Given the description of an element on the screen output the (x, y) to click on. 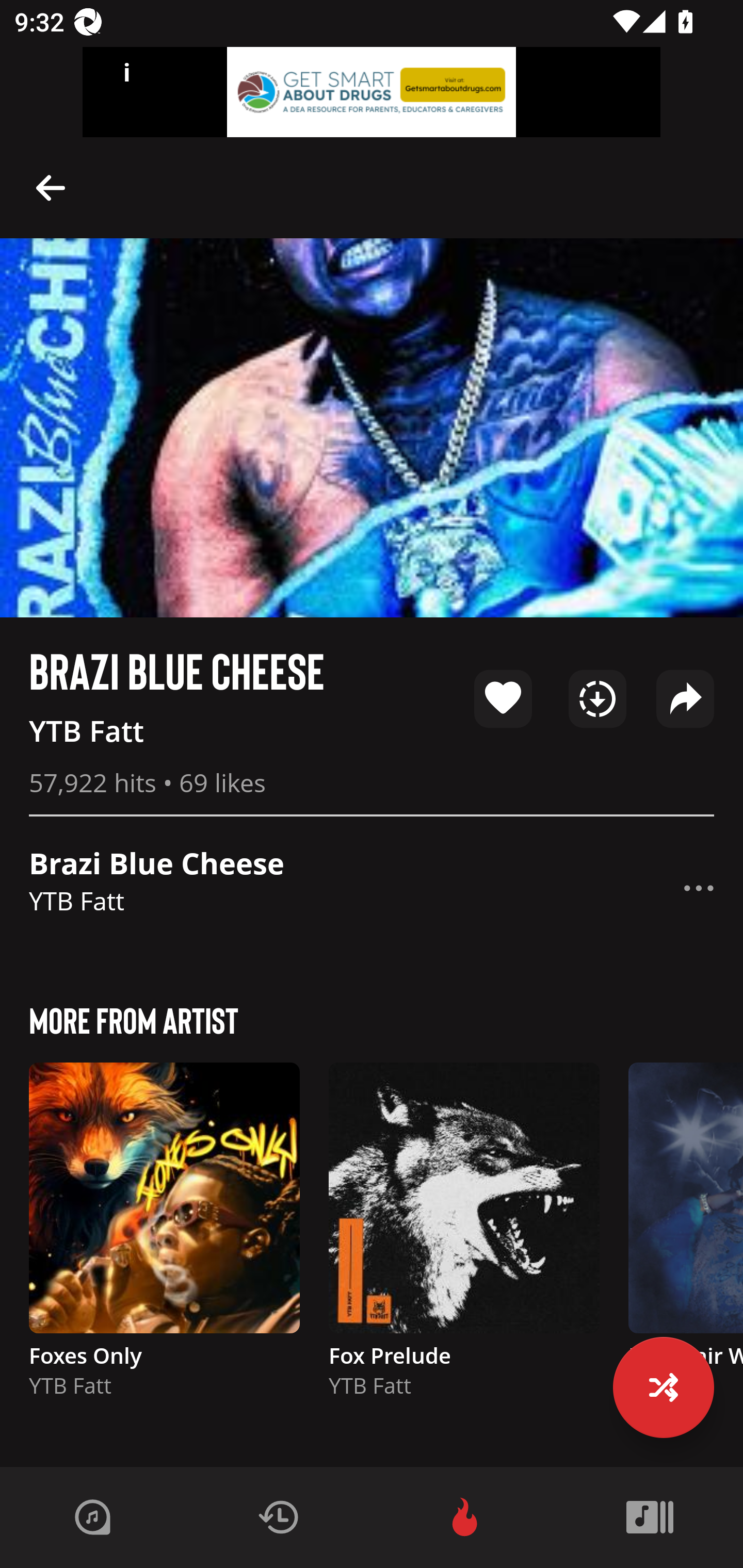
Description (50, 187)
Brazi Blue Cheese YTB Fatt Description (371, 888)
Description (698, 888)
Description Foxes Only YTB Fatt (164, 1238)
Description Fox Prelude YTB Fatt (463, 1238)
